Given the description of an element on the screen output the (x, y) to click on. 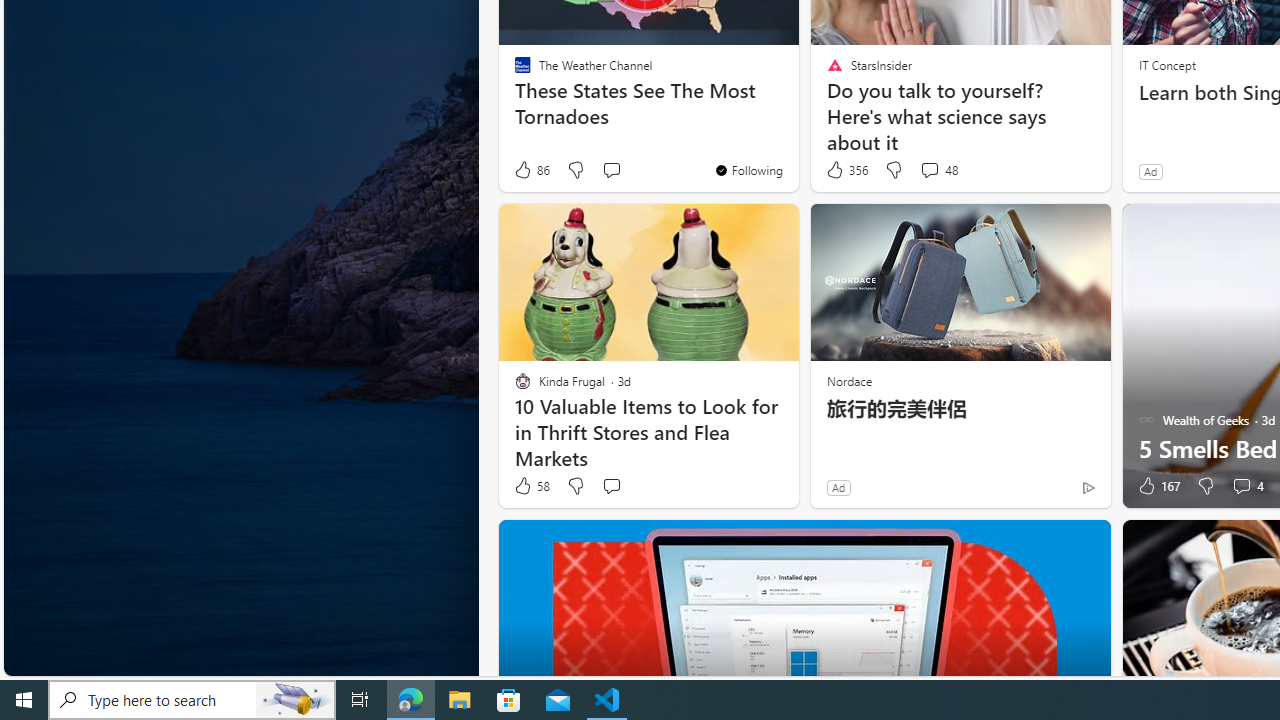
Start the conversation (611, 485)
167 Like (1157, 485)
View comments 48 Comment (938, 170)
View comments 48 Comment (929, 169)
Nordace (848, 380)
Start the conversation (610, 485)
Ad (838, 487)
Ad Choice (1087, 487)
You're following The Weather Channel (747, 169)
IT Concept (1166, 64)
58 Like (531, 485)
Dislike (1204, 485)
View comments 4 Comment (1241, 485)
